Given the description of an element on the screen output the (x, y) to click on. 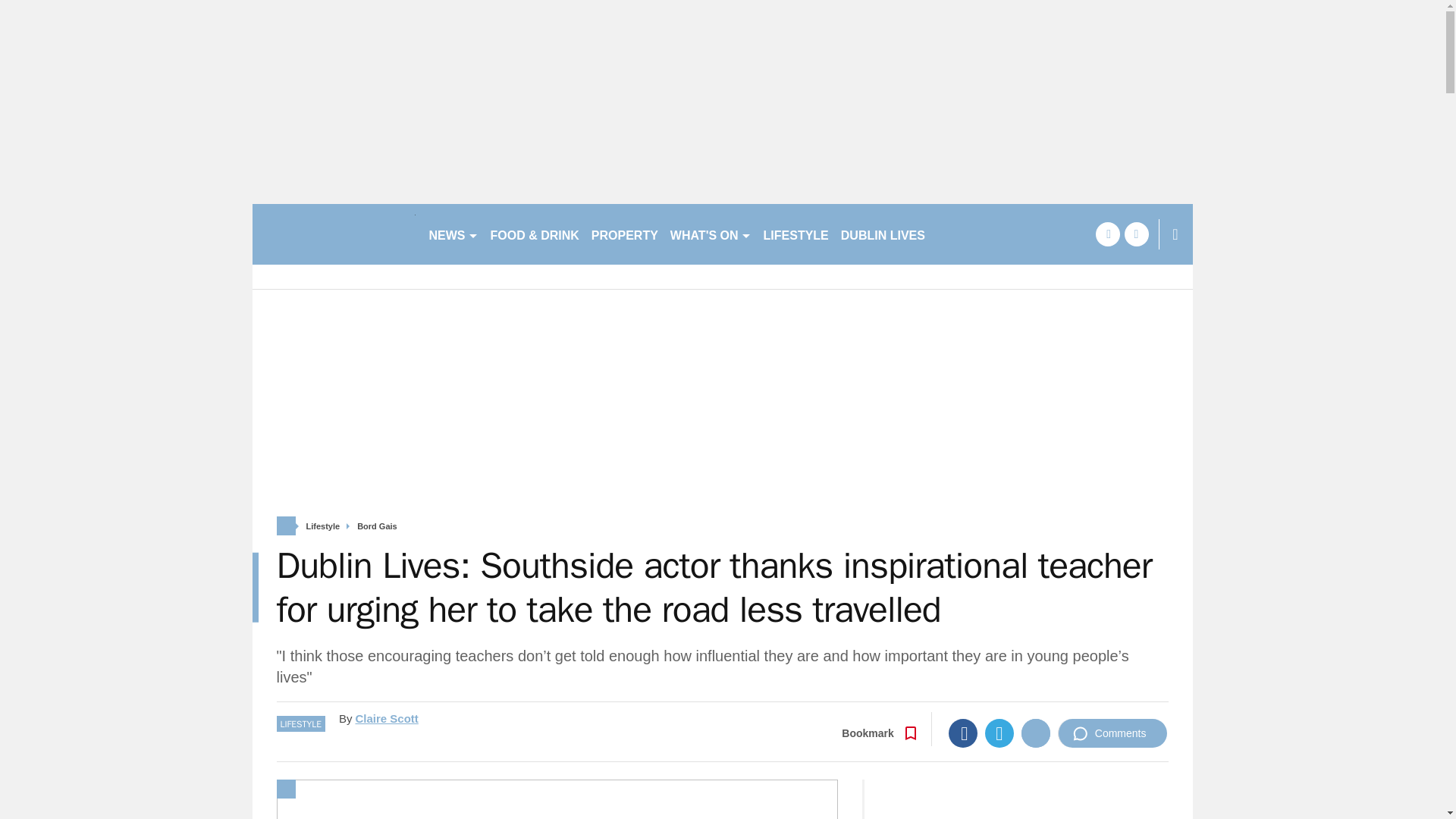
NEWS (453, 233)
Facebook (962, 733)
facebook (1106, 233)
twitter (1136, 233)
WHAT'S ON (710, 233)
dublinlive (332, 233)
PROPERTY (624, 233)
SOCCER (962, 233)
LIFESTYLE (795, 233)
Twitter (999, 733)
